Given the description of an element on the screen output the (x, y) to click on. 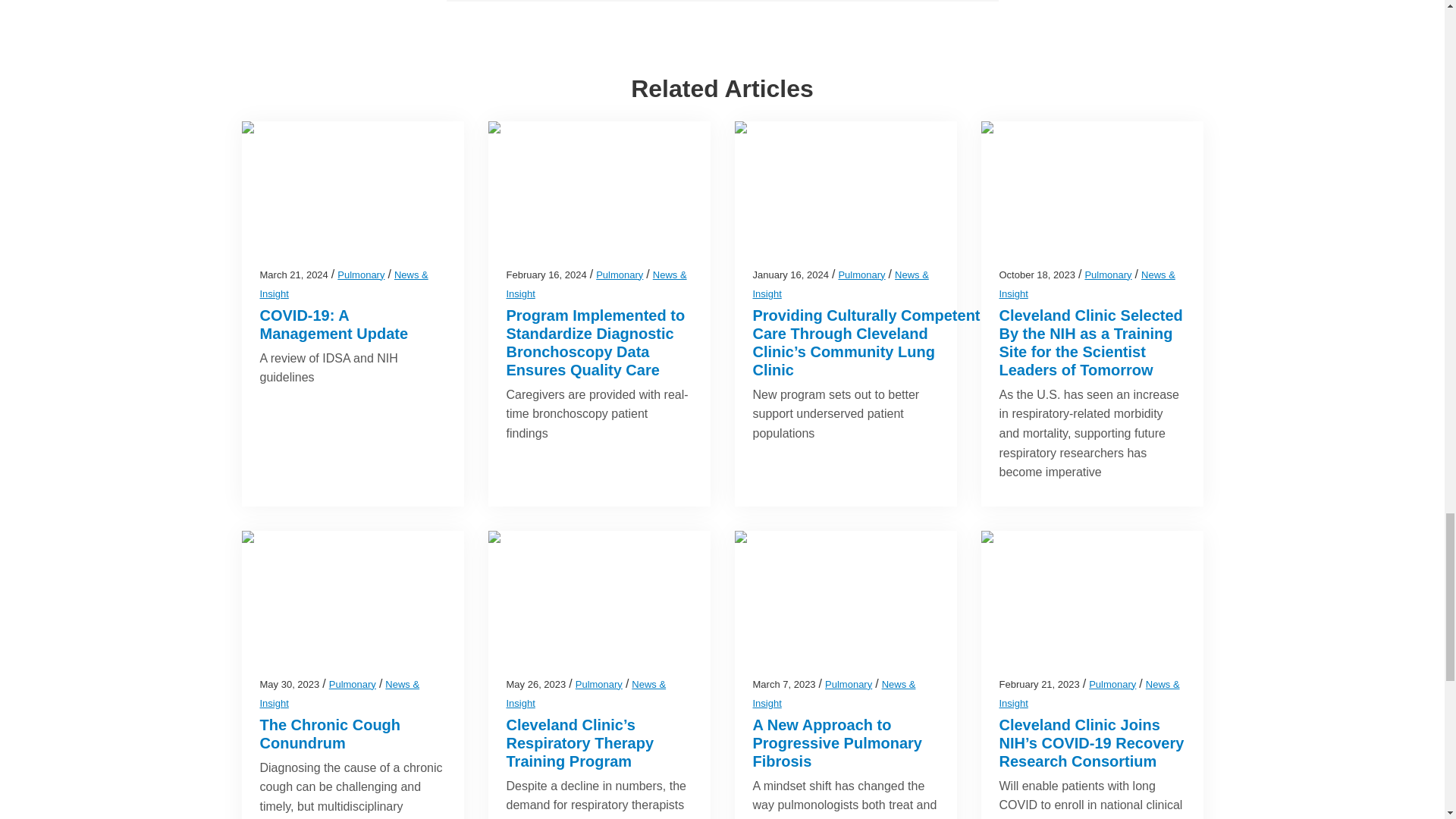
Pulmonary (360, 274)
COVID-19: A Management Update (333, 324)
Pulmonary (619, 274)
